Given the description of an element on the screen output the (x, y) to click on. 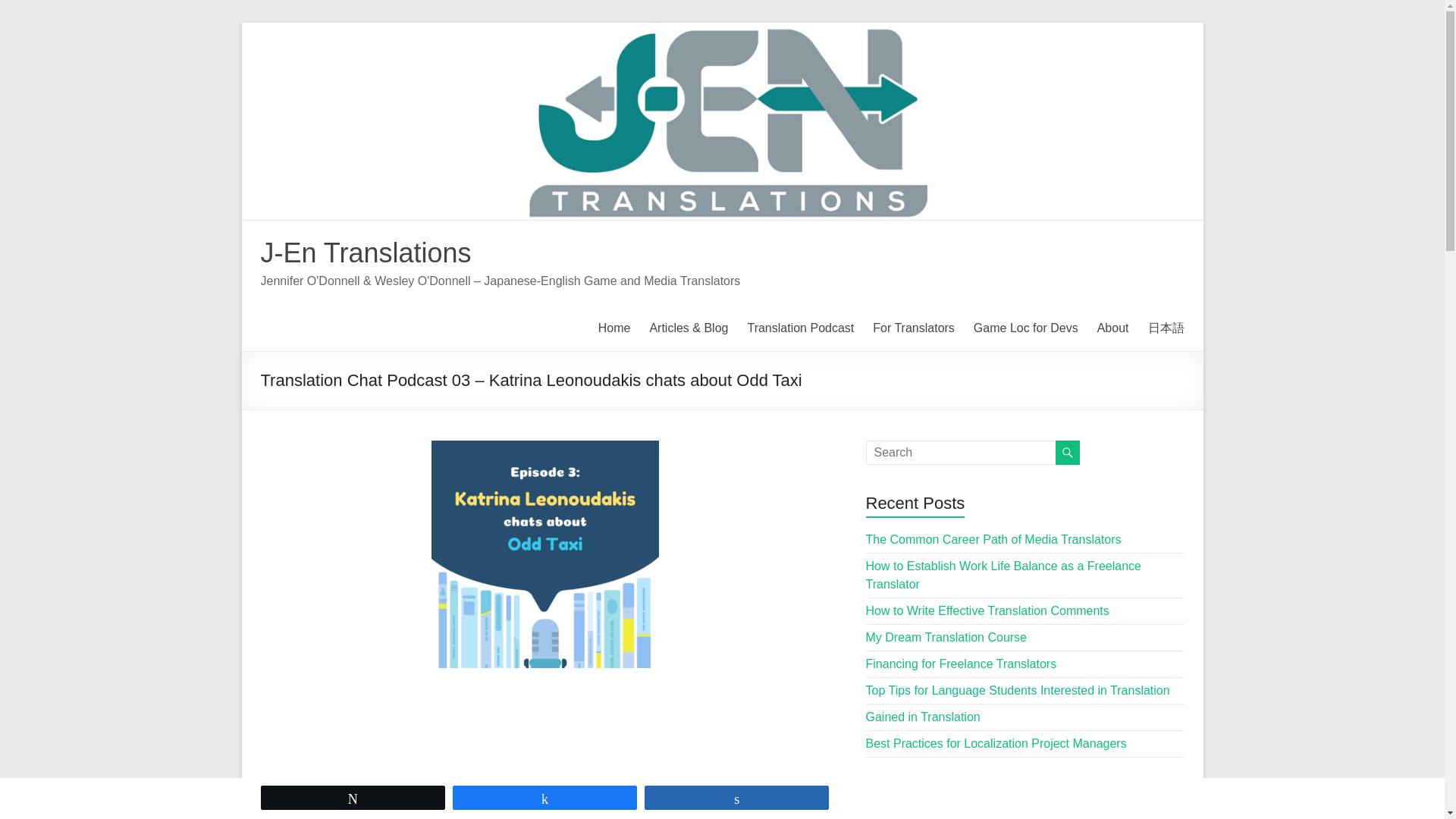
J-En Translations (365, 252)
Book Recommendations for Japanese English Translators (913, 327)
For Translators (913, 327)
About (1113, 327)
Home (614, 327)
Translation Podcast (799, 327)
J-En Translations (365, 252)
Game Loc for Devs (1026, 327)
